Given the description of an element on the screen output the (x, y) to click on. 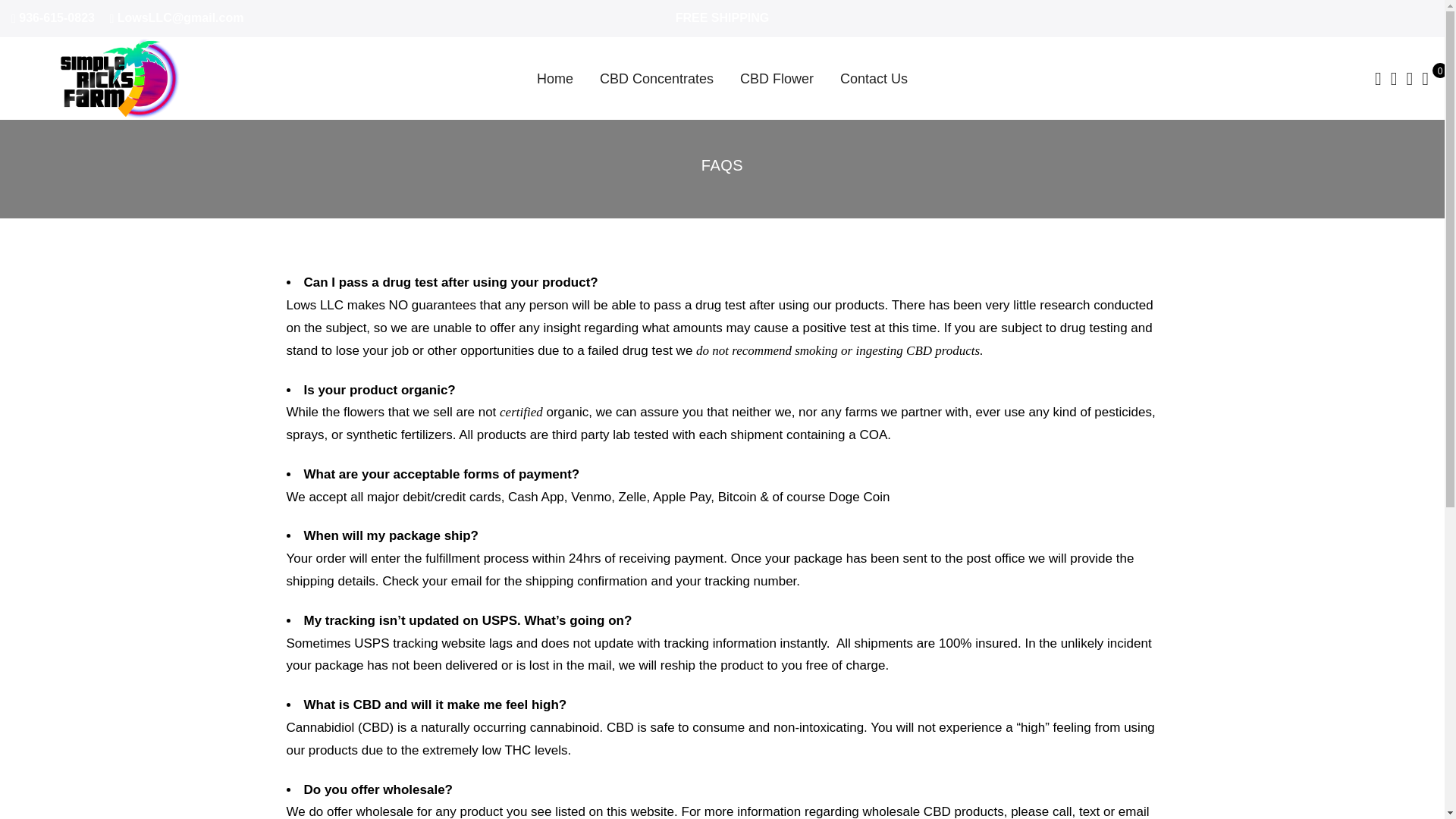
CBD Concentrates (656, 78)
936-615-0823 (56, 17)
Home (555, 78)
CBD Flower (776, 78)
Contact Us (873, 78)
